Given the description of an element on the screen output the (x, y) to click on. 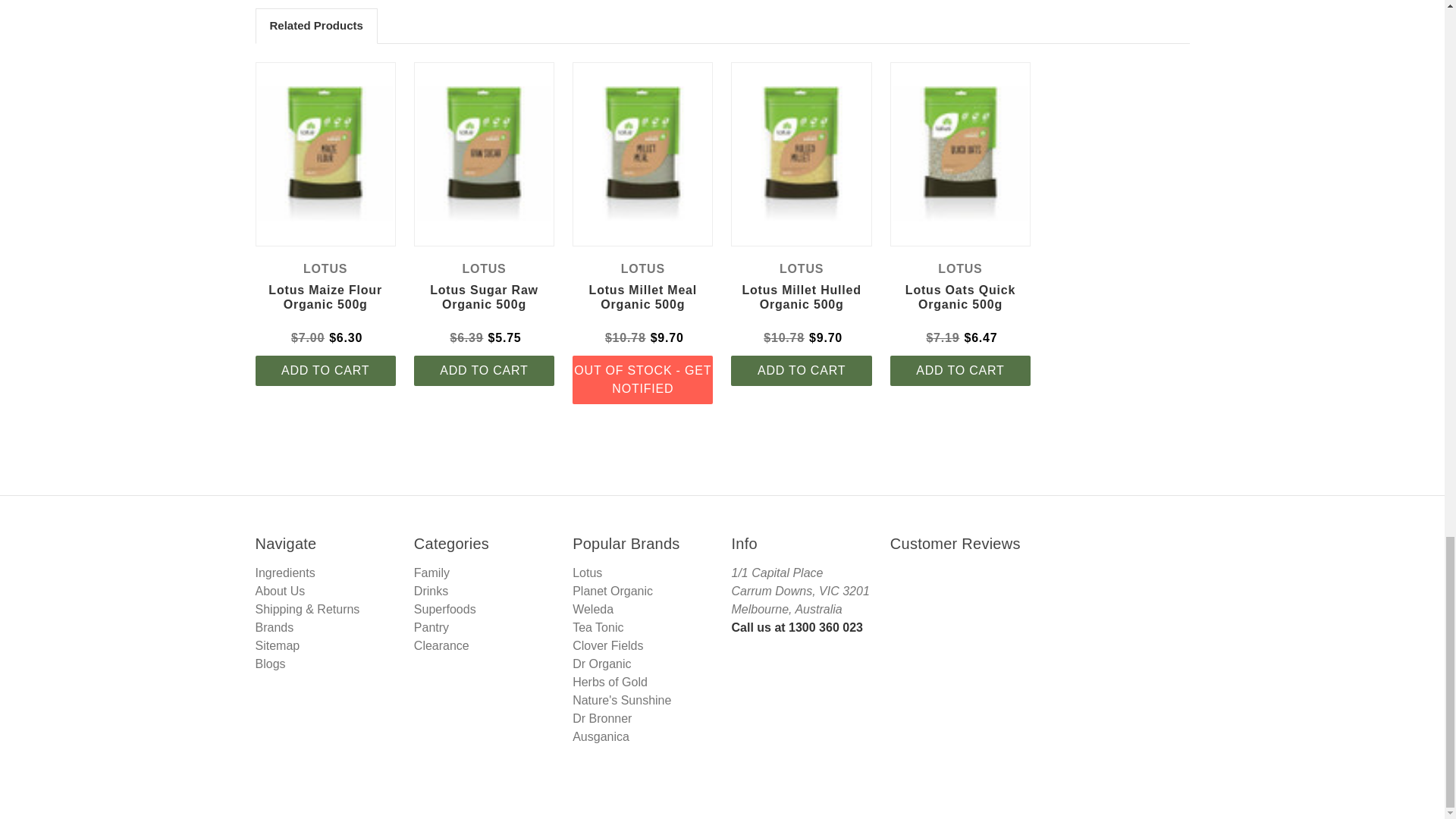
Lotus Sugar Raw Organic 500g (483, 153)
Lotus Oats Quick Organic 500g (960, 153)
Lotus Millet Hulled Organic 500g (801, 153)
Lotus Maize Flour Organic 500g (325, 153)
Lotus Millet Meal Organic 500g (642, 153)
